Given the description of an element on the screen output the (x, y) to click on. 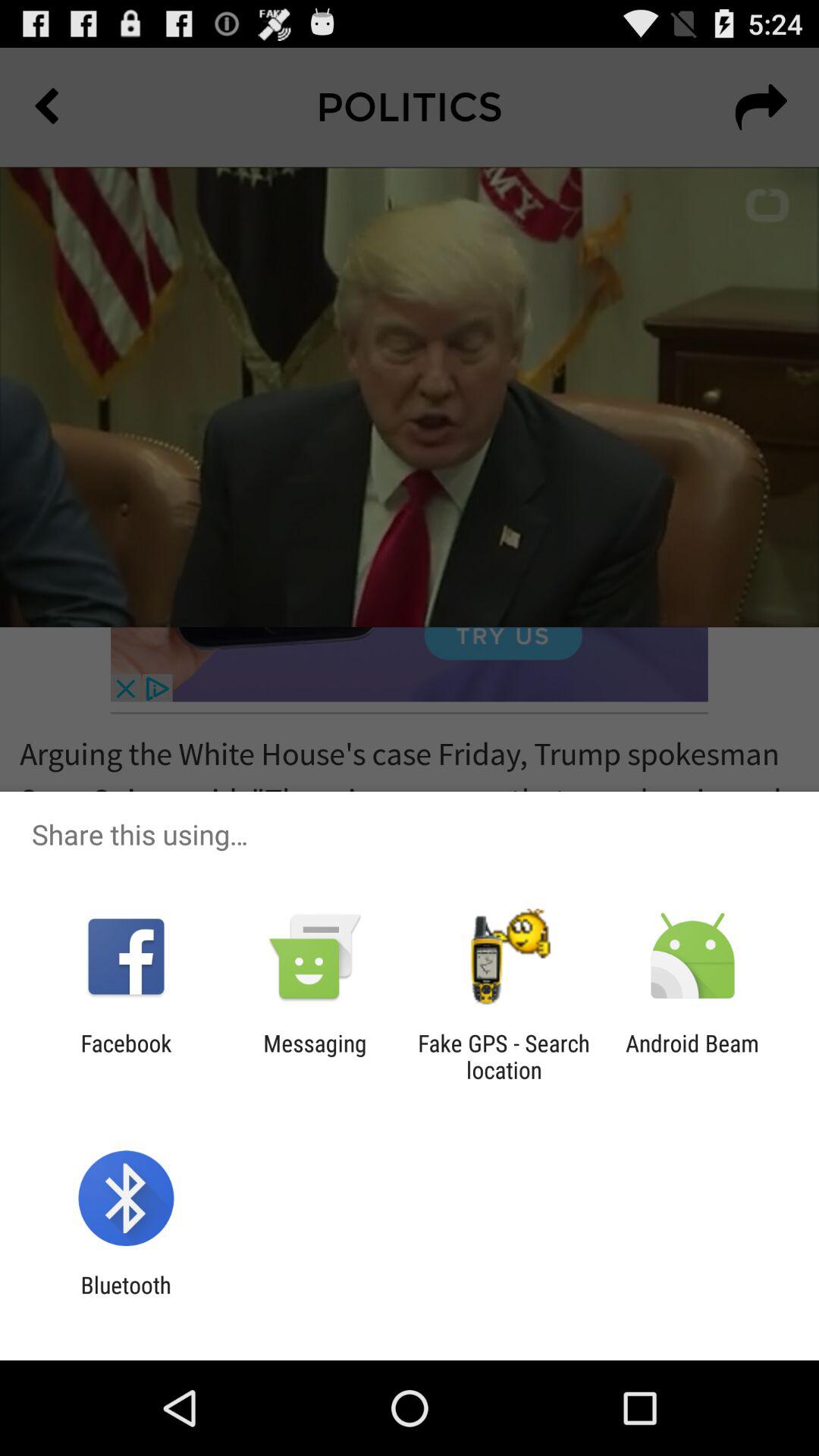
turn off item to the left of fake gps search (314, 1056)
